Given the description of an element on the screen output the (x, y) to click on. 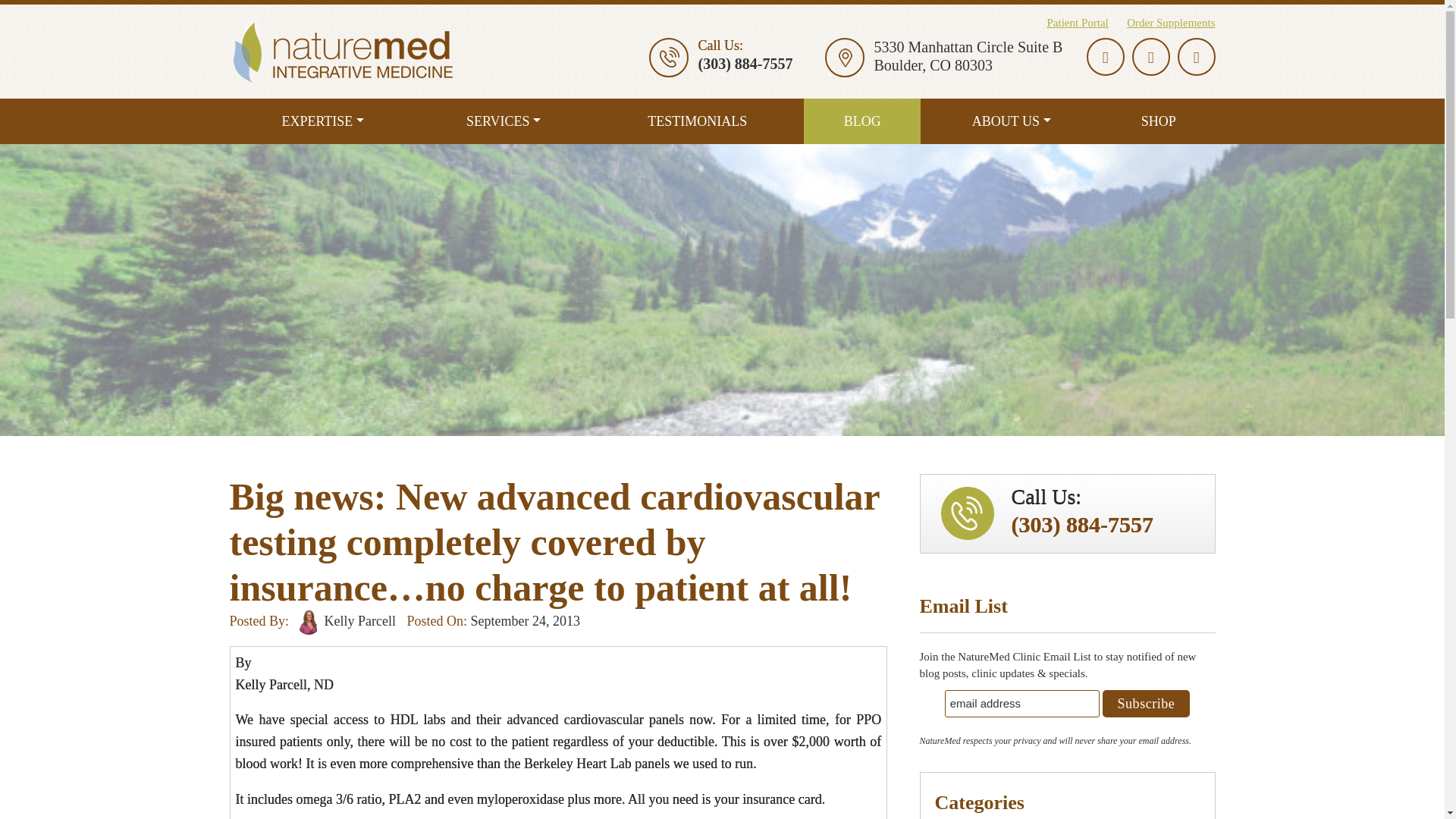
Patient Portal (1077, 22)
ABOUT US (1011, 121)
Subscribe (1146, 703)
BLOG (861, 121)
EXPERTISE (321, 121)
SERVICES (503, 121)
SERVICES (503, 121)
TESTIMONIALS (697, 121)
EXPERTISE (321, 121)
Order Supplements (1163, 22)
